Given the description of an element on the screen output the (x, y) to click on. 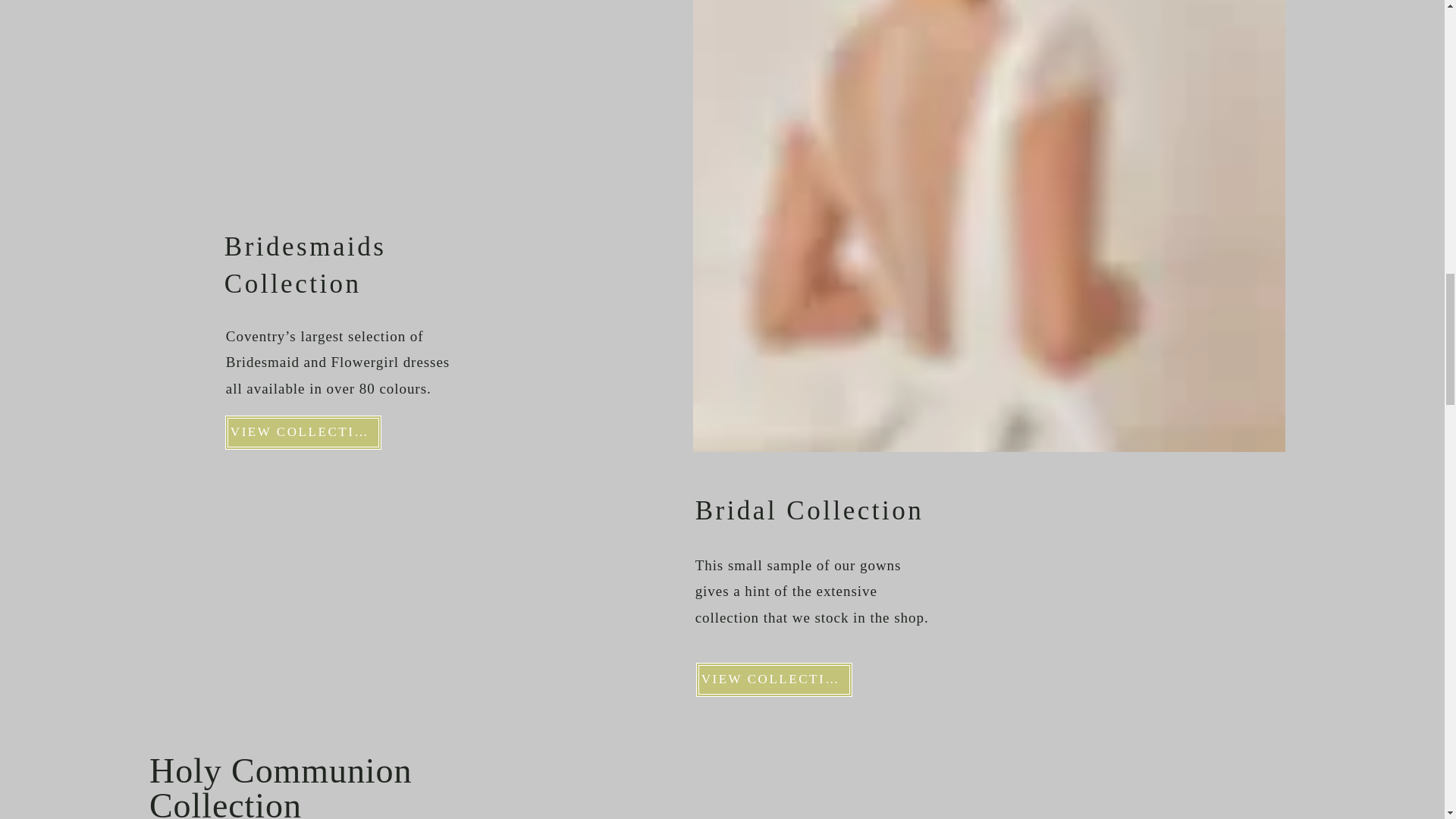
VIEW COLLECTION (773, 679)
VIEW COLLECTION (303, 432)
Bridal Collection (809, 510)
Bridesmaids Collection (304, 264)
